Given the description of an element on the screen output the (x, y) to click on. 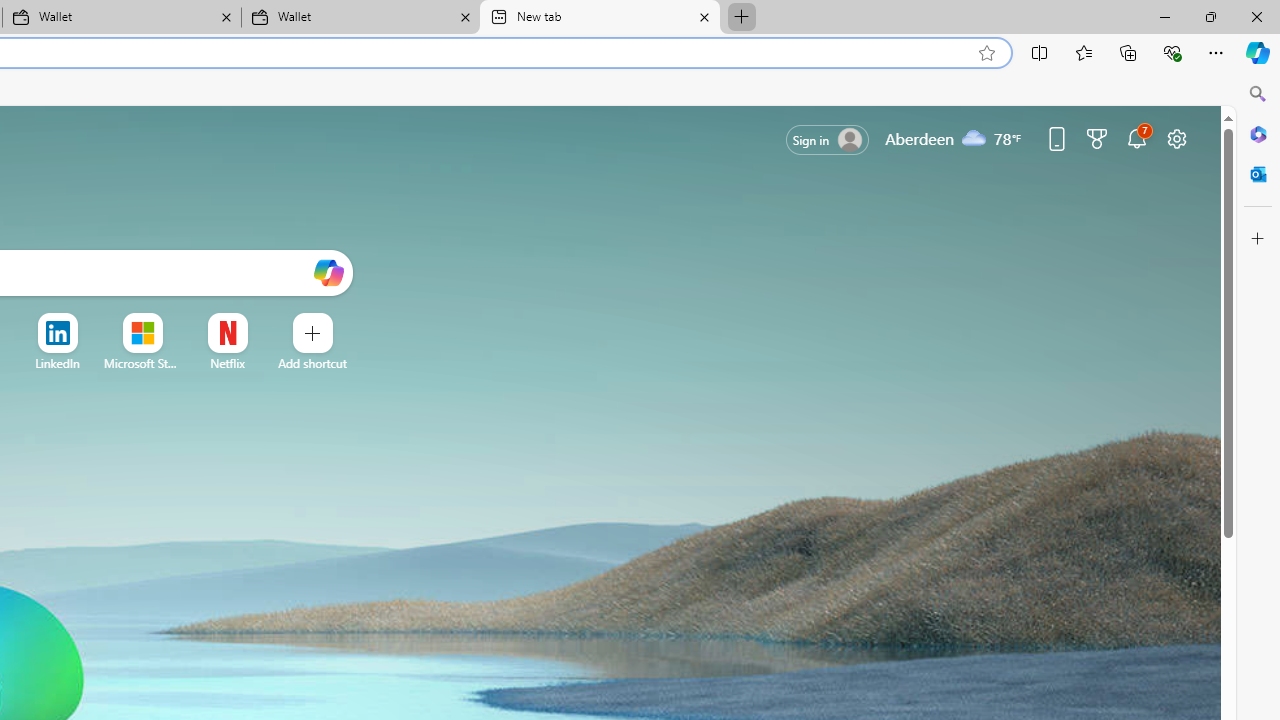
Page settings (1176, 138)
Netflix (226, 363)
Cloudy (974, 137)
Wallet (360, 17)
Microsoft rewards (1096, 138)
